Given the description of an element on the screen output the (x, y) to click on. 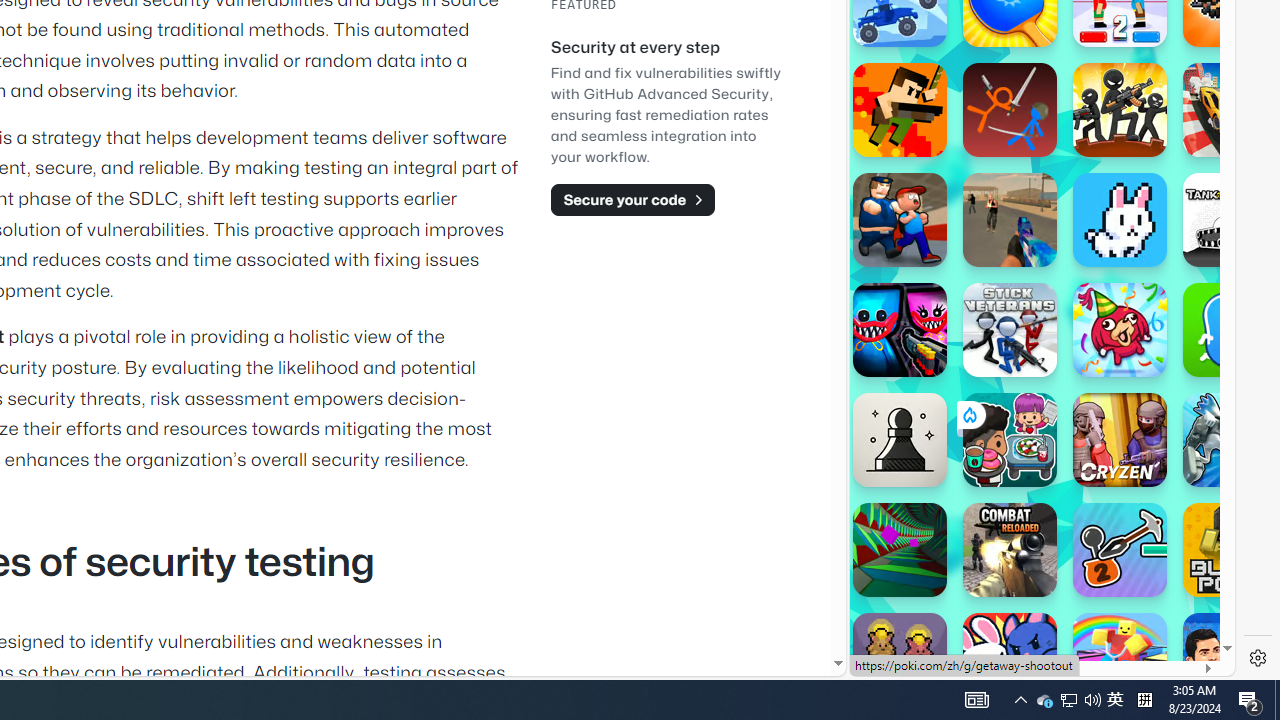
G-Switch 4 G-Switch 4 (1229, 439)
Combat Reloaded (1092, 300)
Kate's Cooking Party 2 (1009, 439)
Stick Defenders (1119, 109)
Tank Trouble Tank Trouble (1229, 219)
Hills of Steel (943, 300)
Rainbow Obby Rainbow Obby (1119, 659)
Stickman Climb 2 (1119, 549)
Huggy Wuggy Shooter Huggy Wuggy Shooter (899, 329)
Goober World (1229, 329)
Tunnel Rush (899, 549)
Combat Reloaded Combat Reloaded (1009, 549)
Cave Chaos Cave Chaos (899, 659)
Class: rCs5cyEiqiTpYvt_VBCR (968, 415)
